Given the description of an element on the screen output the (x, y) to click on. 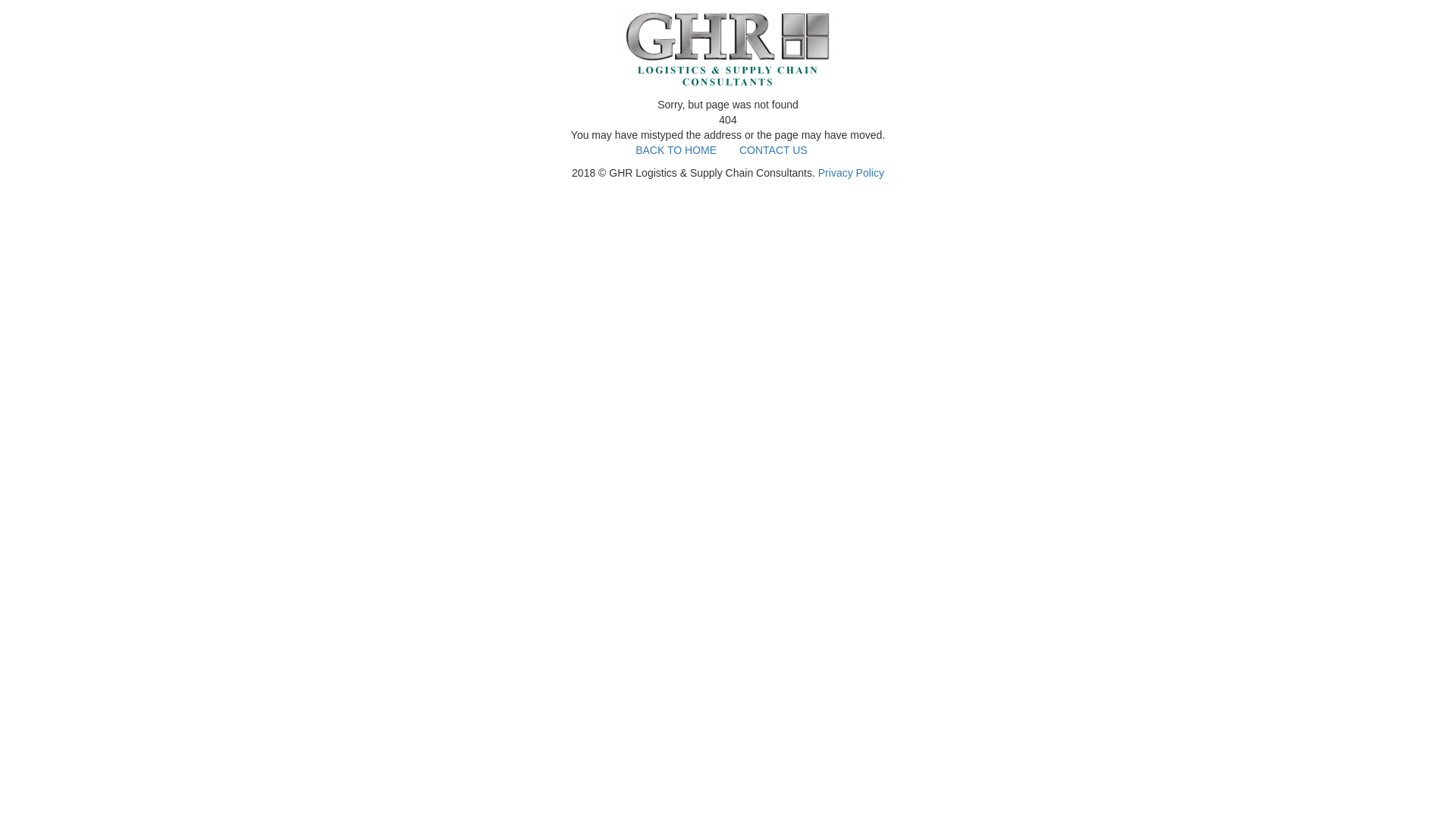
CONTACT US Element type: text (773, 149)
BACK TO HOME Element type: text (675, 149)
Privacy Policy Element type: text (851, 172)
